Given the description of an element on the screen output the (x, y) to click on. 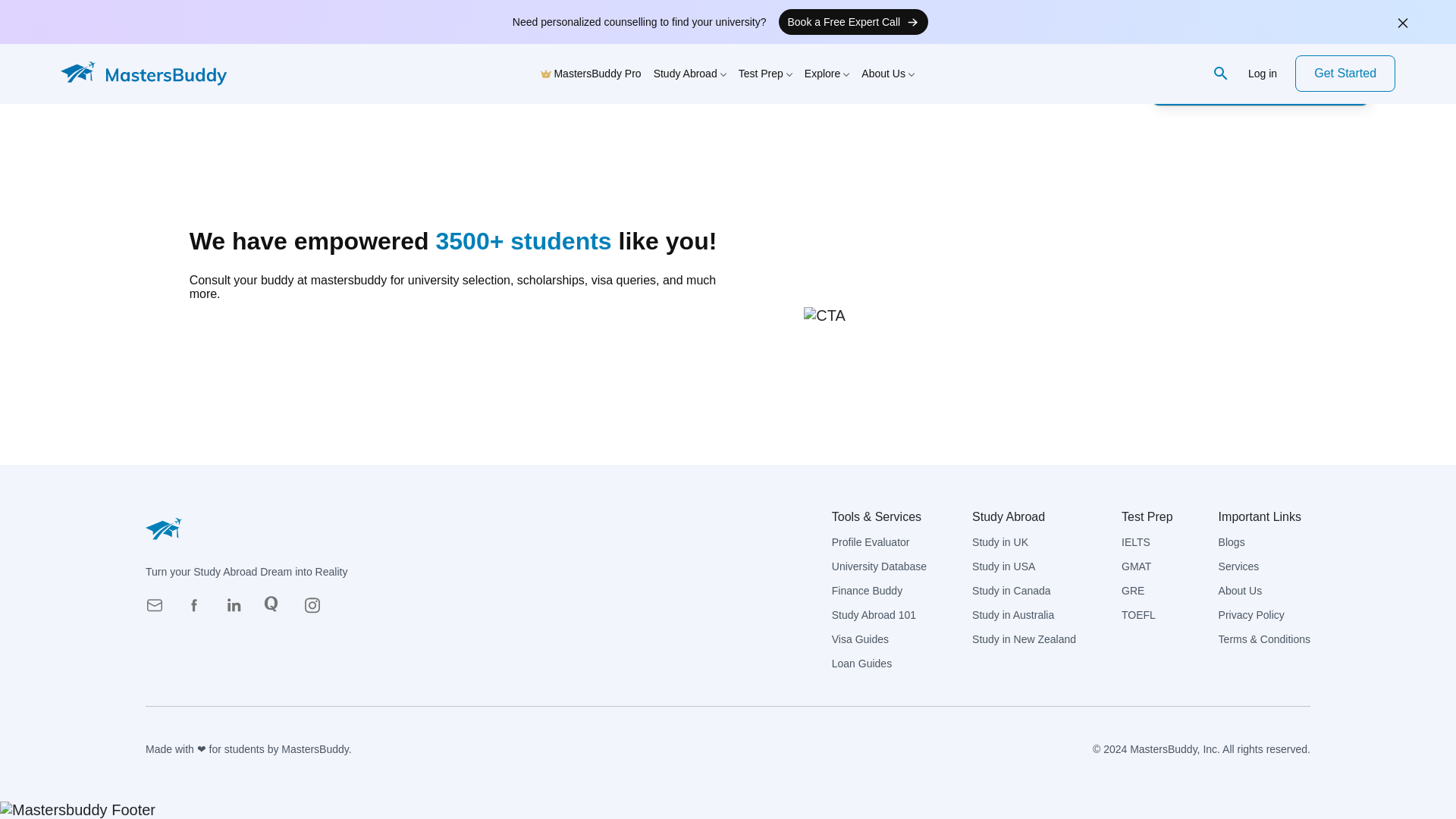
Mastersbuddy Linkedin (237, 609)
Mastersbuddy Mail (159, 609)
Mastersbuddy Facebook (198, 609)
Mastersbuddy Instagram (316, 609)
Mastersbuddy Quora (277, 609)
